Given the description of an element on the screen output the (x, y) to click on. 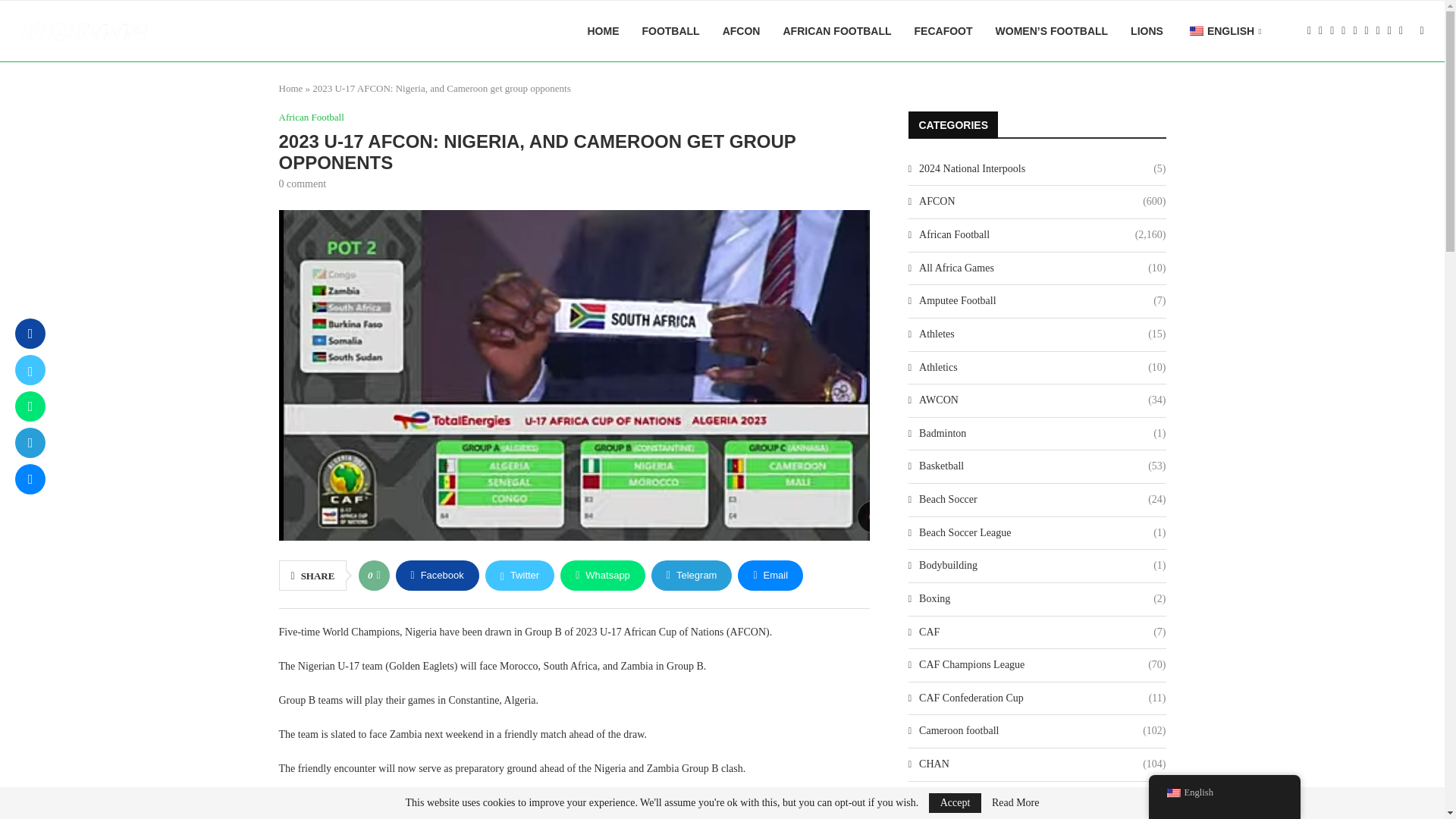
Email (770, 575)
ENGLISH (1224, 31)
AFRICAN FOOTBALL (837, 30)
FOOTBALL (670, 30)
Whatsapp (602, 575)
English (1196, 31)
Home (290, 88)
Twitter (519, 575)
FECAFOOT (943, 30)
Telegram (691, 575)
Facebook (437, 575)
African Football (311, 117)
